Given the description of an element on the screen output the (x, y) to click on. 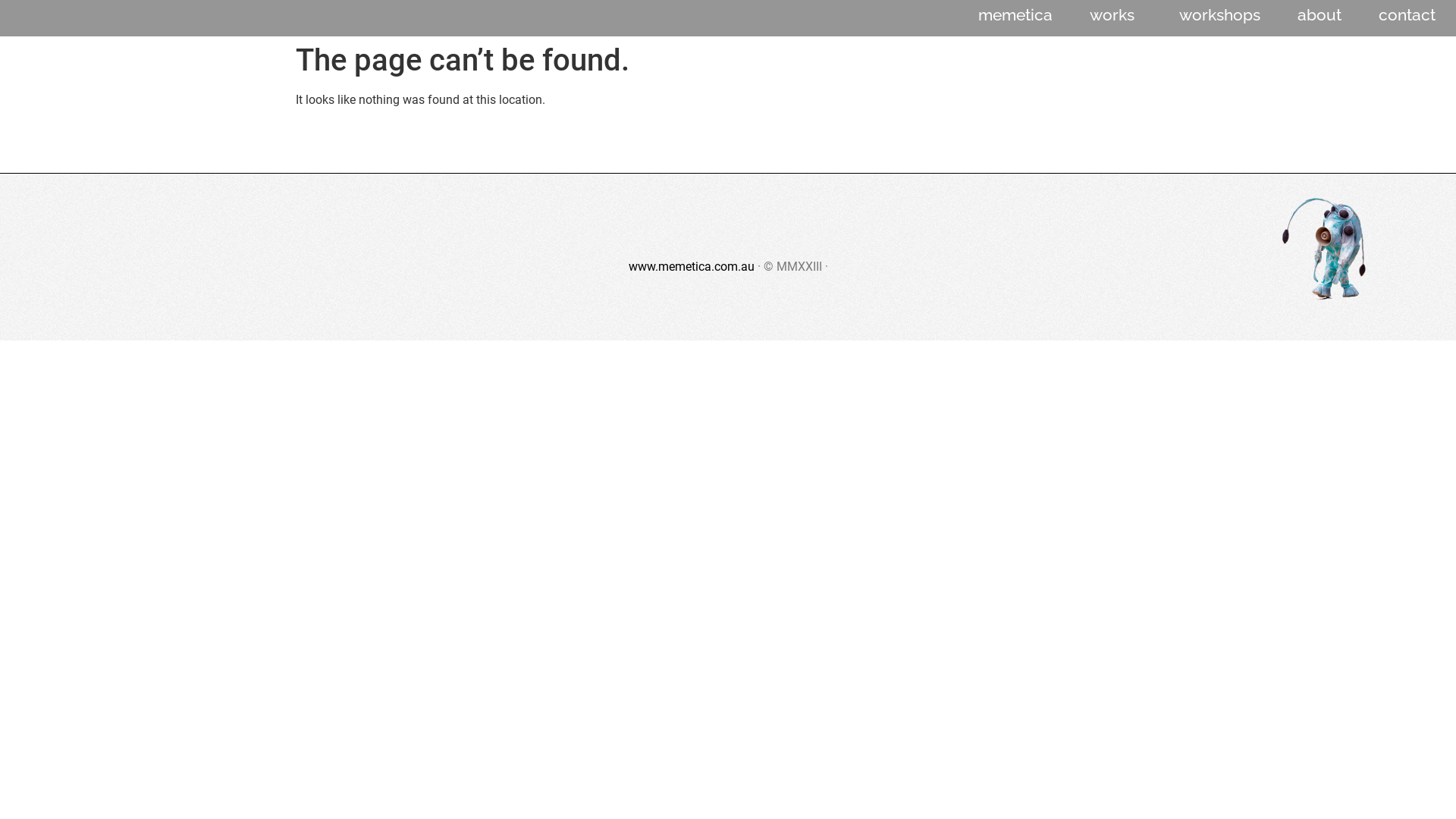
www.memetica.com.au Element type: text (690, 266)
